Given the description of an element on the screen output the (x, y) to click on. 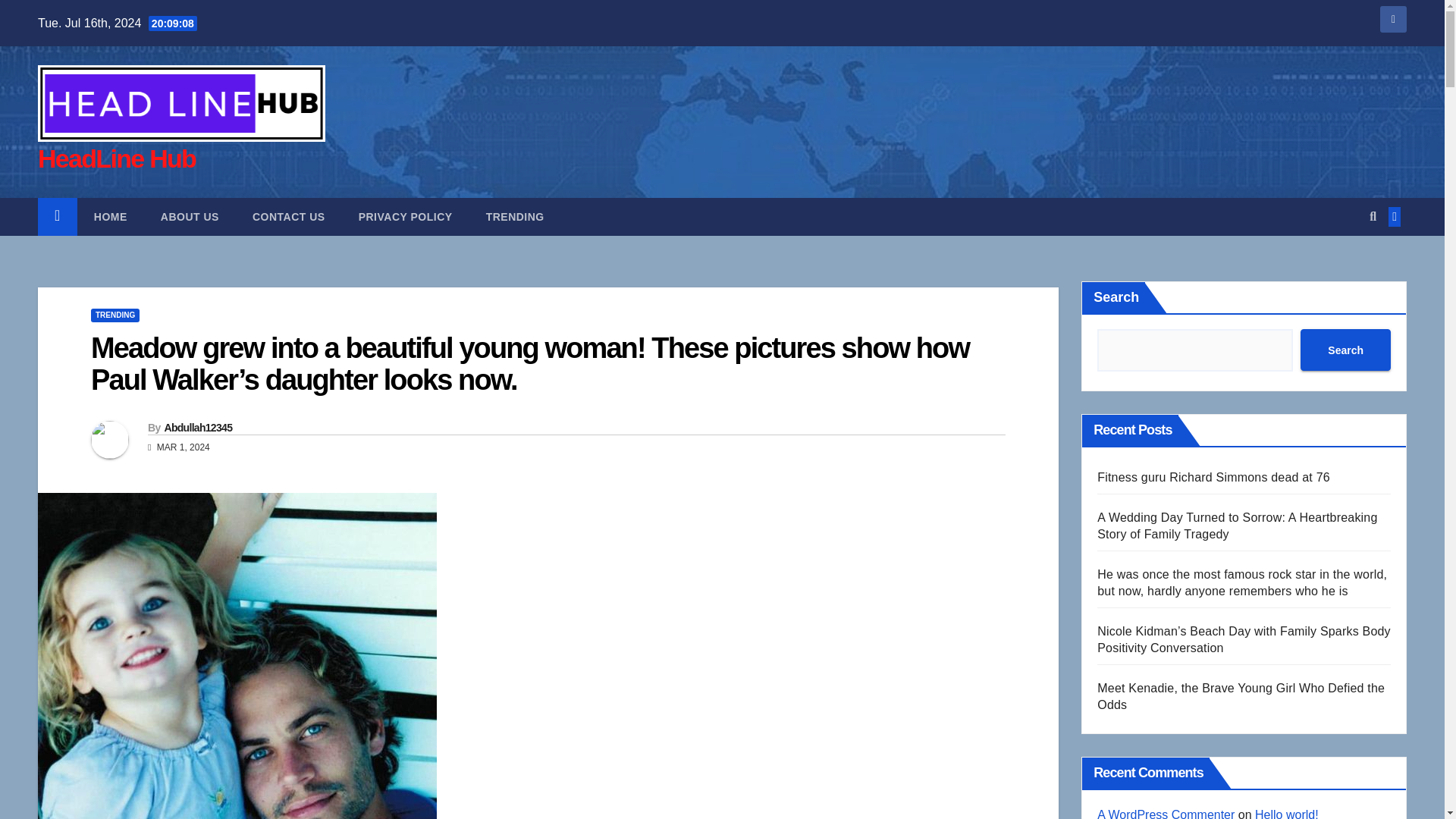
Contact Us (288, 216)
TRENDING (114, 315)
About Us (189, 216)
Home (110, 216)
TRENDING (514, 216)
HeadLine Hub (116, 158)
Abdullah12345 (197, 427)
ABOUT US (189, 216)
Privacy Policy (405, 216)
HOME (110, 216)
Trending (514, 216)
CONTACT US (288, 216)
PRIVACY POLICY (405, 216)
